Given the description of an element on the screen output the (x, y) to click on. 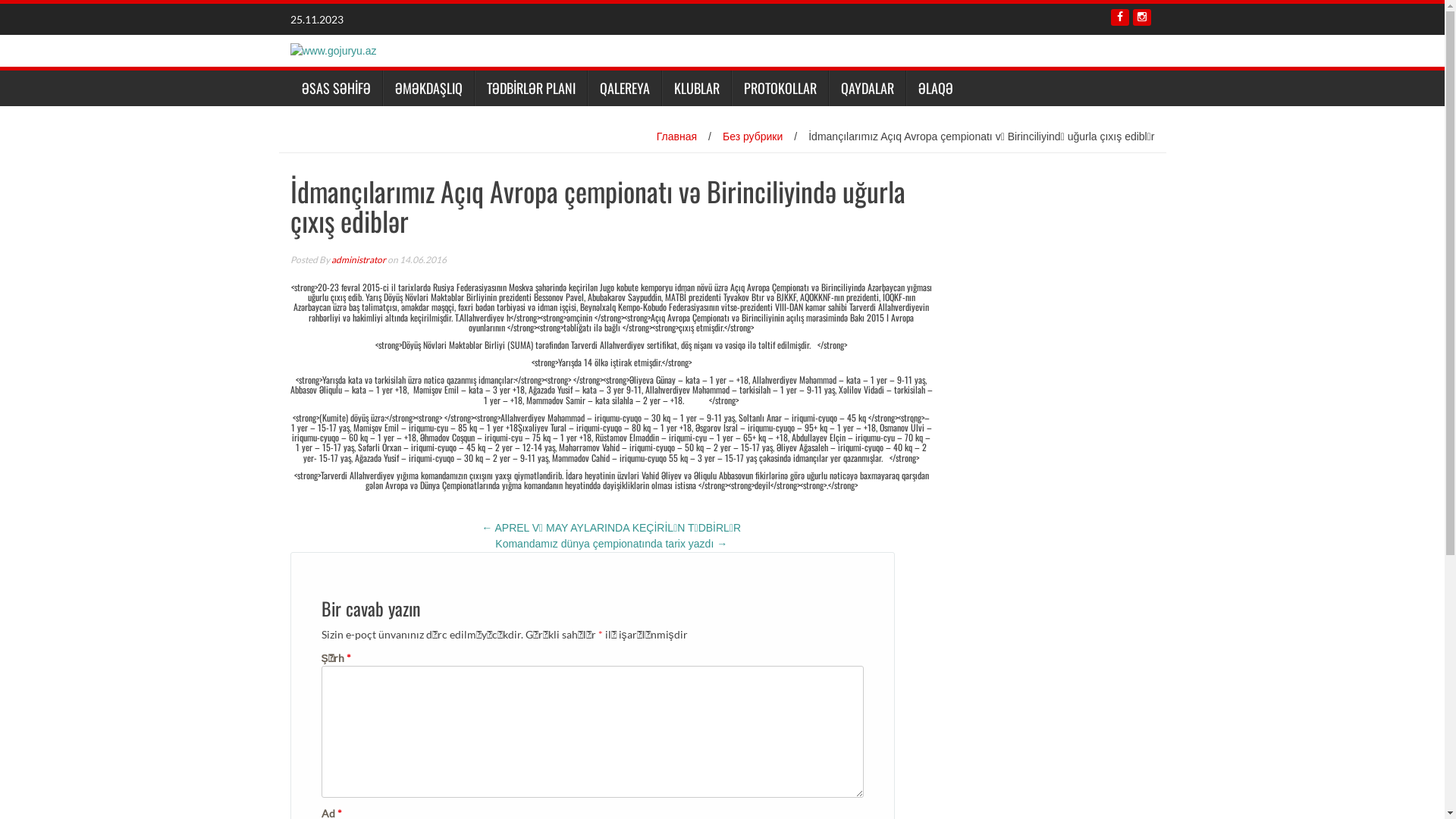
administrator Element type: text (357, 259)
QAYDALAR Element type: text (866, 88)
KLUBLAR Element type: text (695, 88)
Instagram Element type: hover (1141, 17)
QALEREYA Element type: text (623, 88)
Facebook Element type: hover (1119, 17)
PROTOKOLLAR Element type: text (779, 88)
www.gojuryu.az Element type: hover (332, 49)
